Given the description of an element on the screen output the (x, y) to click on. 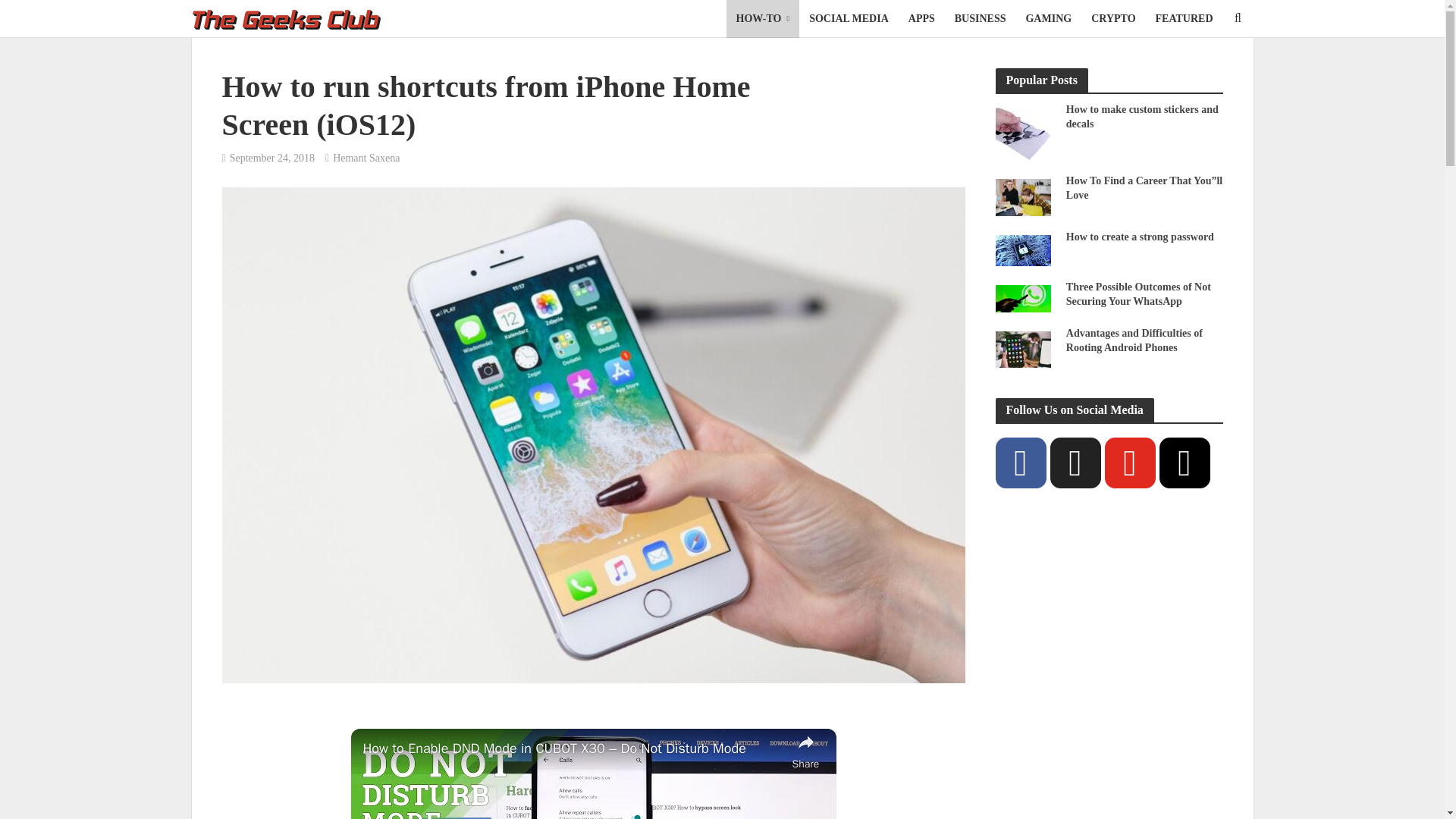
FEATURED (1184, 18)
How to make custom stickers and decals (1021, 132)
SOCIAL MEDIA (848, 18)
BUSINESS (980, 18)
Hemant Saxena (365, 159)
GAMING (1047, 18)
APPS (921, 18)
HOW-TO (762, 18)
CRYPTO (1112, 18)
